Given the description of an element on the screen output the (x, y) to click on. 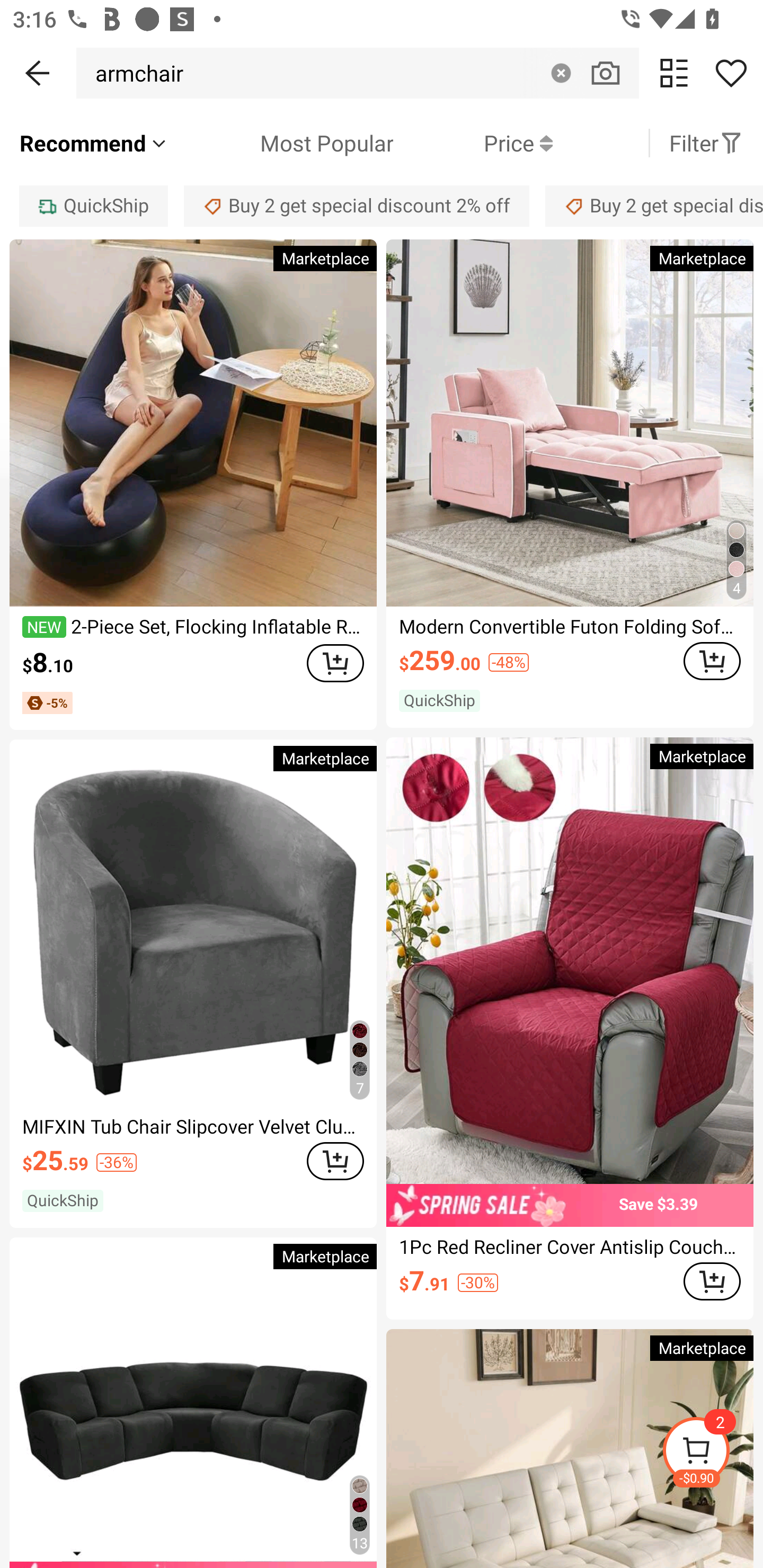
armchair (134, 72)
Clear (560, 72)
change view (673, 72)
Share (730, 72)
Recommend (94, 143)
Most Popular (280, 143)
Price (472, 143)
Filter (705, 143)
QuickShip (93, 206)
Buy 2 get special discount 2% off (356, 206)
Buy 2 get special discount 1% off (654, 206)
ADD TO CART (711, 660)
ADD TO CART (334, 663)
ADD TO CART (334, 1160)
ADD TO CART (711, 1280)
-$0.90 (712, 1452)
